Given the description of an element on the screen output the (x, y) to click on. 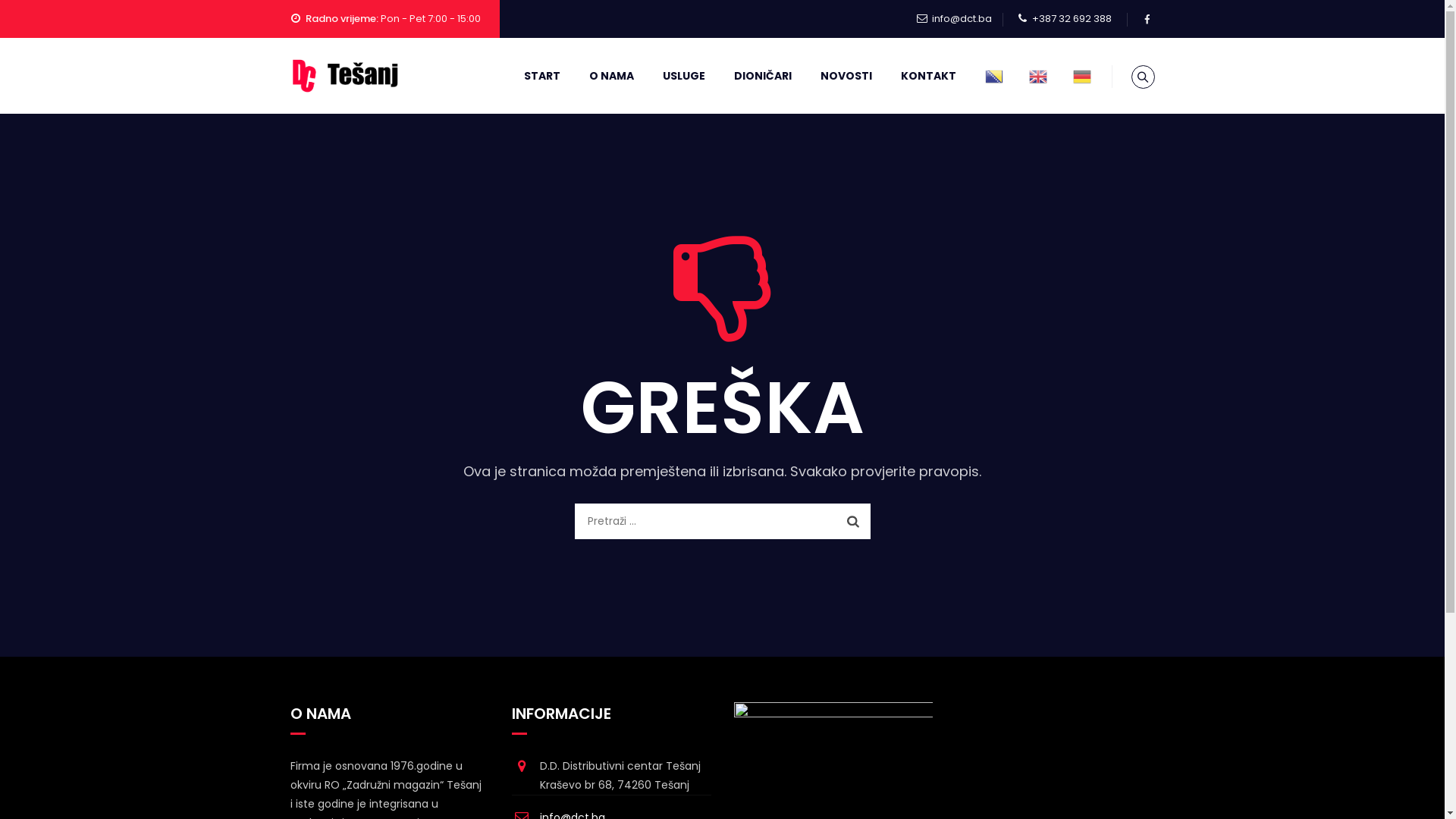
info@dct.ba Element type: text (961, 18)
START Element type: text (542, 75)
English Element type: hover (1038, 75)
KONTAKT Element type: text (927, 75)
NOVOSTI Element type: text (845, 75)
DC Element type: hover (345, 75)
Pretraga Element type: text (852, 520)
German Element type: hover (1082, 75)
Bosnian Element type: hover (994, 75)
USLUGE Element type: text (683, 75)
O NAMA Element type: text (611, 75)
